Given the description of an element on the screen output the (x, y) to click on. 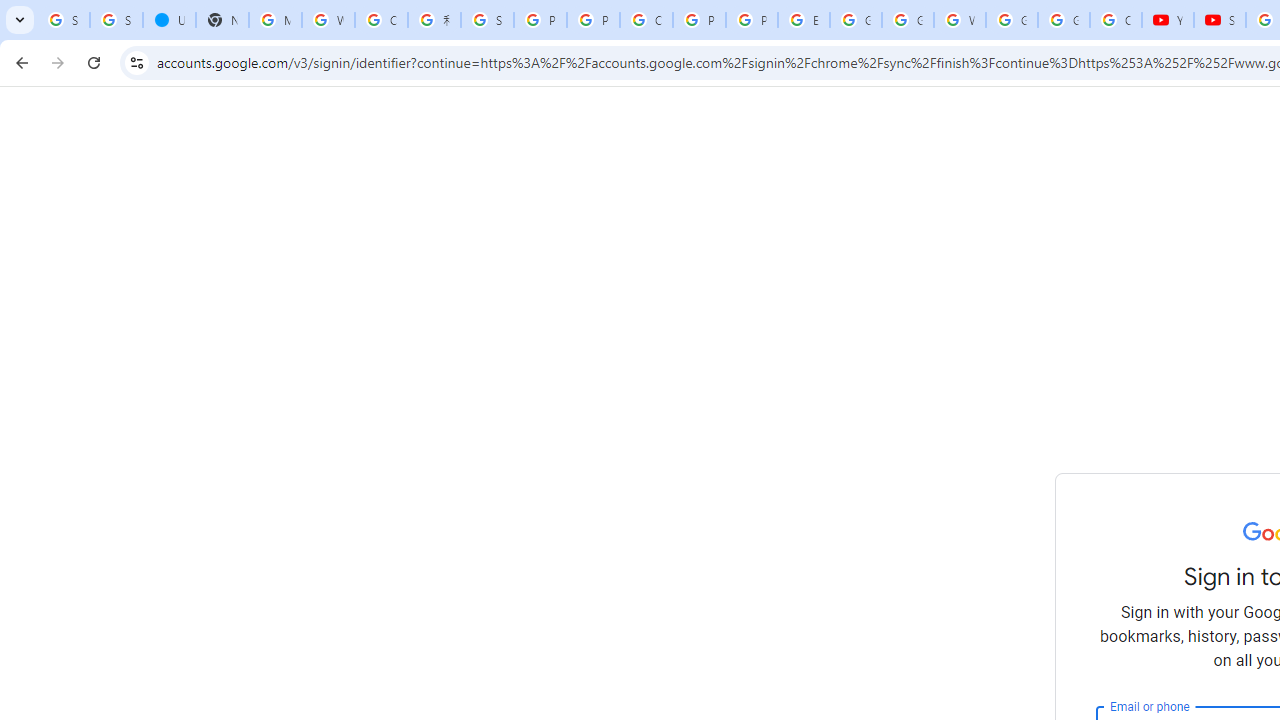
Sign in - Google Accounts (487, 20)
Welcome to My Activity (959, 20)
USA TODAY (169, 20)
Google Slides: Sign-in (855, 20)
